Given the description of an element on the screen output the (x, y) to click on. 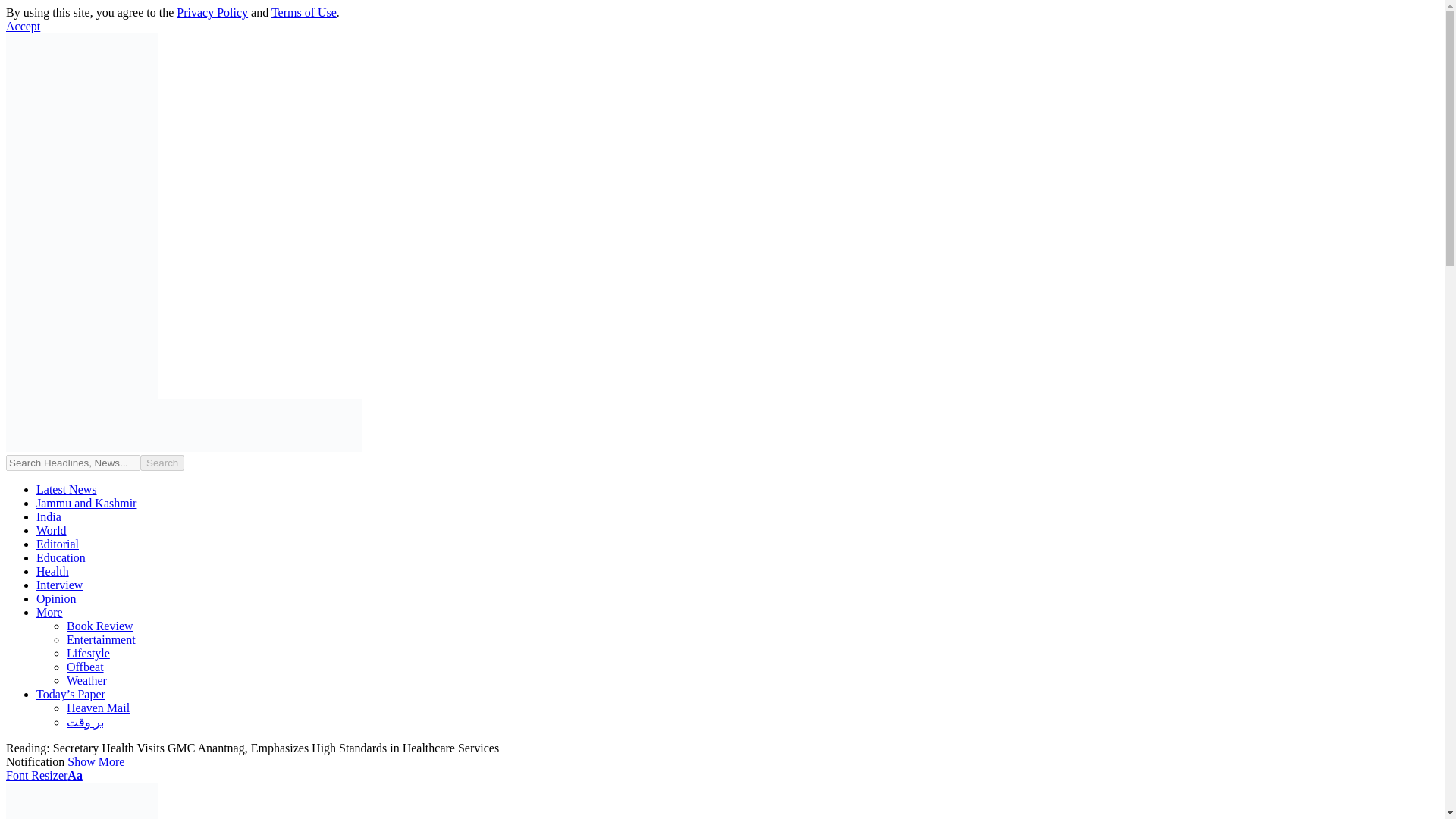
Education (60, 557)
Interview (59, 584)
Editorial (57, 543)
Entertainment (100, 639)
Offbeat (84, 666)
Opinion (55, 598)
Terms of Use (303, 11)
More (49, 612)
Search (161, 462)
Book Review (99, 625)
